Given the description of an element on the screen output the (x, y) to click on. 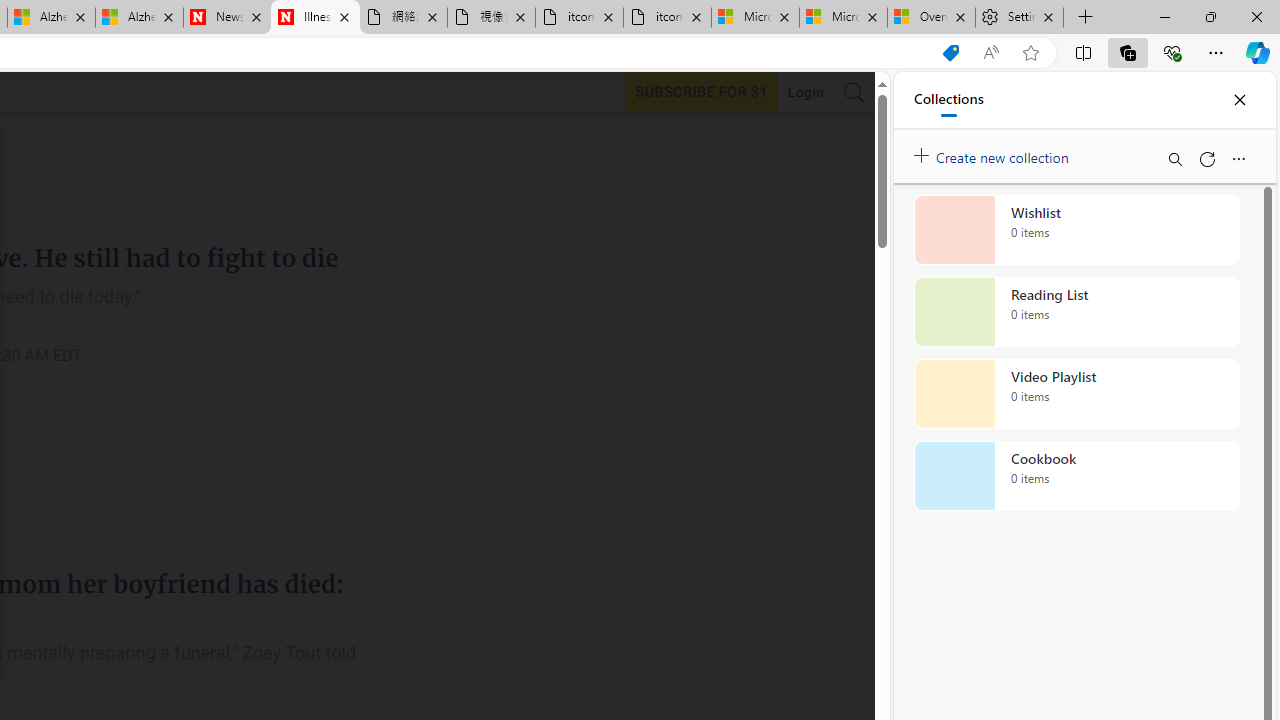
Login (805, 92)
